Given the description of an element on the screen output the (x, y) to click on. 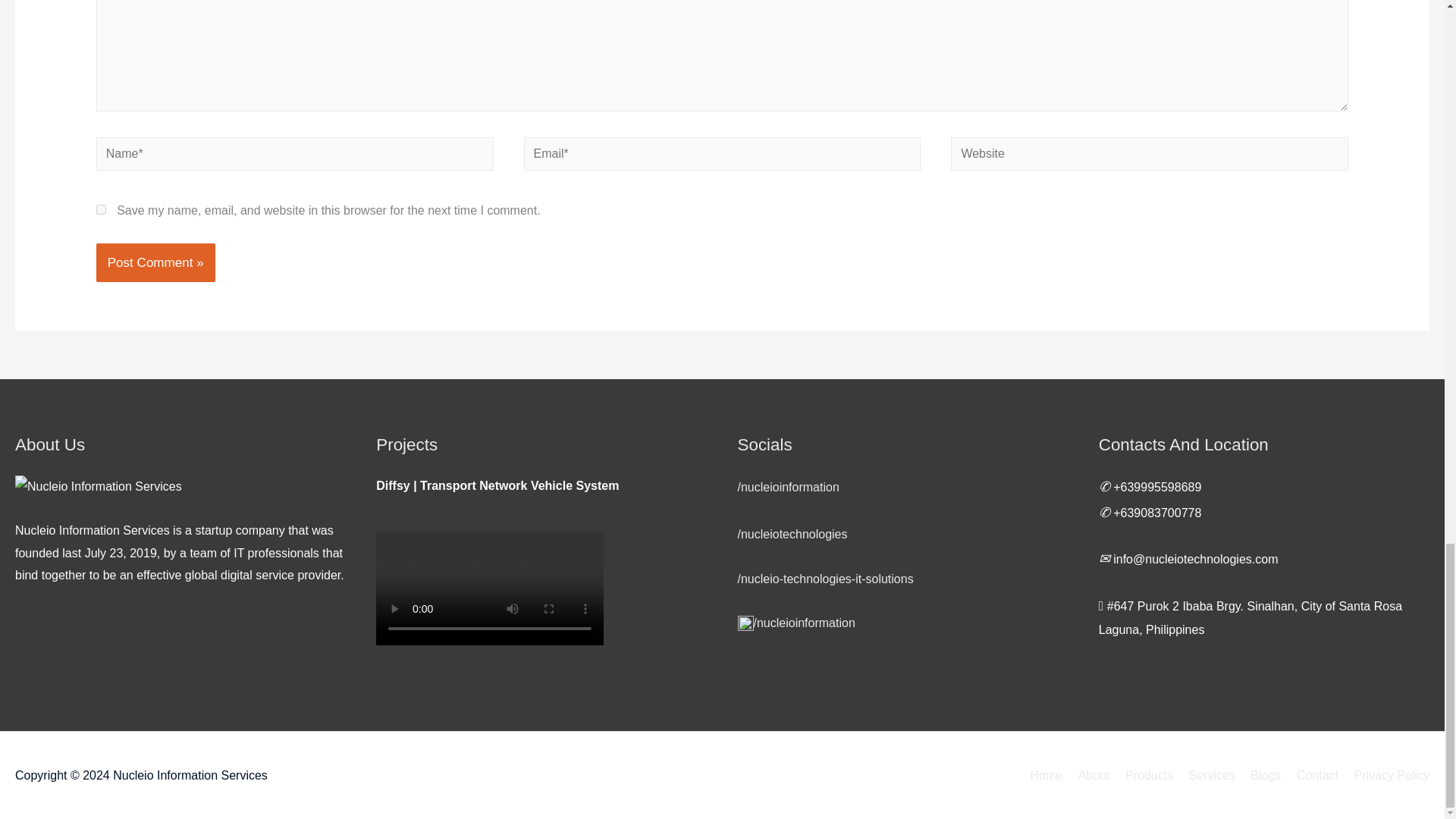
Contact (1311, 775)
About (1087, 775)
Services (1205, 775)
Products (1143, 775)
Privacy Policy (1384, 775)
yes (101, 209)
Home (1046, 775)
Blogs (1260, 775)
